Given the description of an element on the screen output the (x, y) to click on. 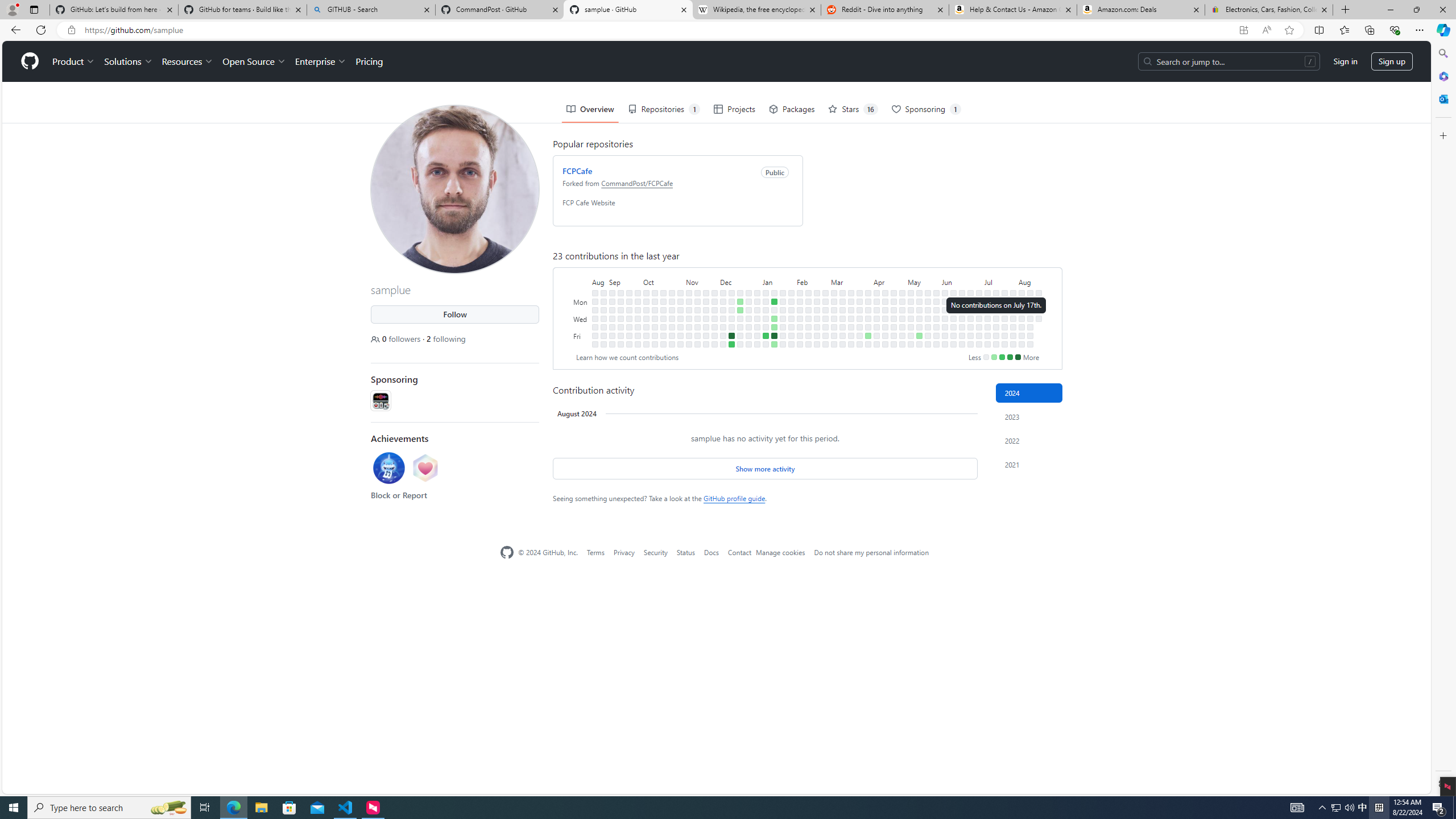
No contributions on June 30th. (978, 292)
No contributions on May 21st. (927, 309)
Sunday (581, 292)
No contributions on January 5th. (757, 335)
April (889, 280)
No contributions on October 22nd. (671, 292)
No contributions on July 28th. (1013, 292)
No contributions on February 16th. (807, 335)
No contributions on May 11th. (910, 343)
No contributions on February 3rd. (790, 343)
November (701, 280)
Manage cookies (780, 552)
